Given the description of an element on the screen output the (x, y) to click on. 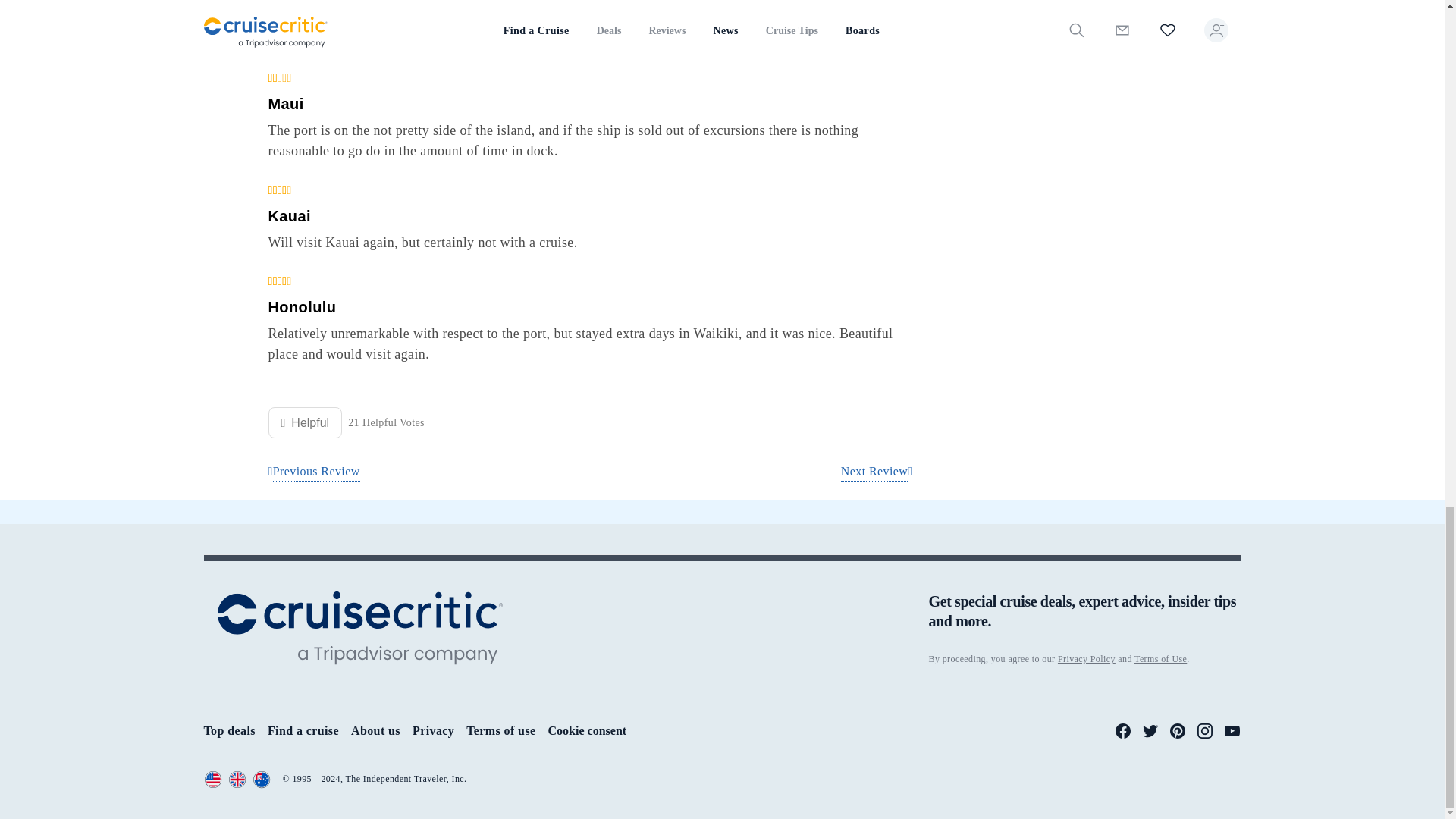
Helpful (304, 422)
Next Review (876, 471)
Previous Review (313, 471)
Find a cruise (303, 730)
Privacy Policy (1086, 658)
Terms of Use (1160, 658)
Top deals (228, 730)
